Given the description of an element on the screen output the (x, y) to click on. 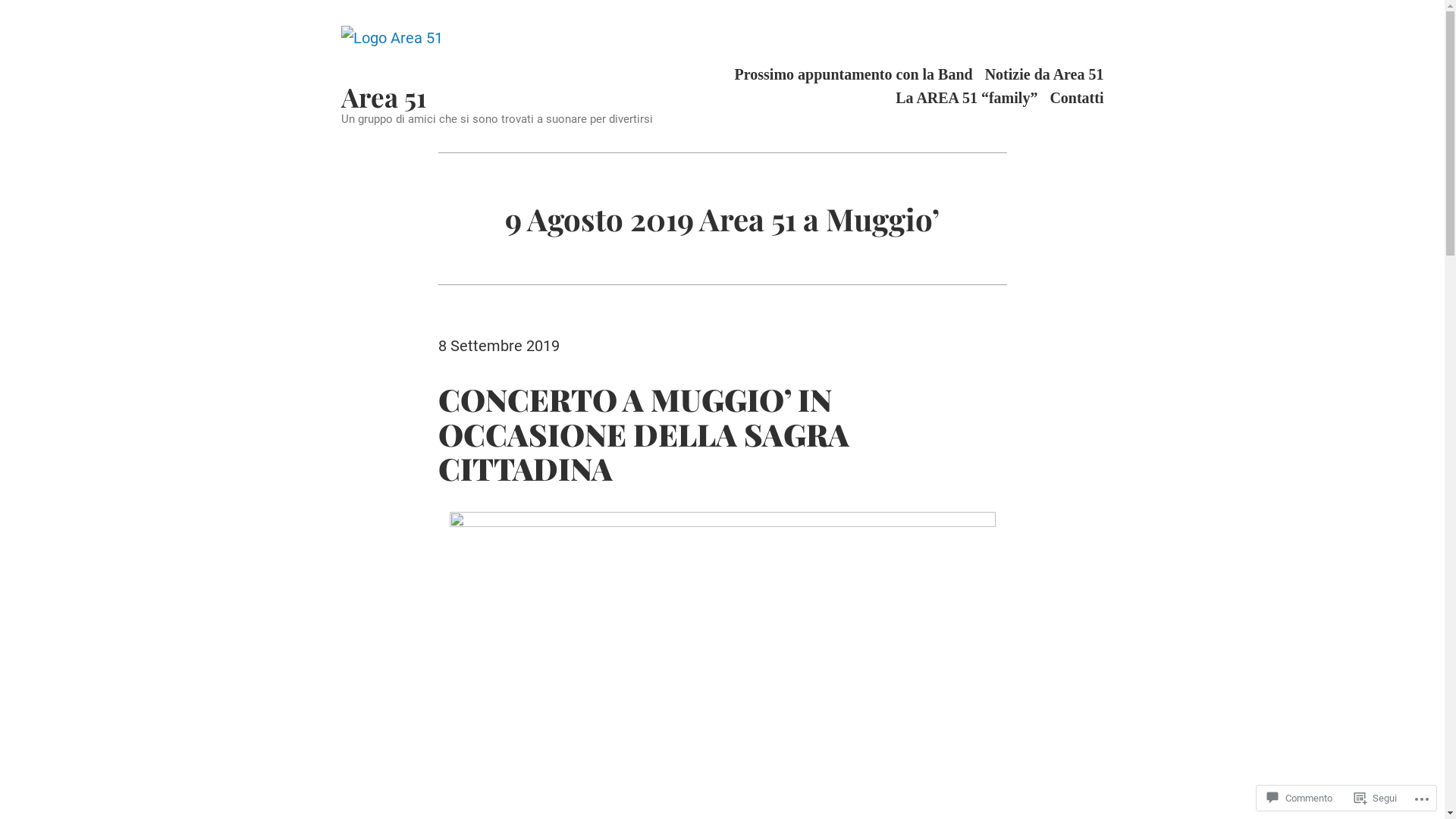
Notizie da Area 51 Element type: text (1044, 73)
Prossimo appuntamento con la Band Element type: text (853, 73)
Contatti Element type: text (1076, 97)
Commento Element type: text (1299, 797)
Segui Element type: text (1375, 797)
Area 51 Element type: text (383, 96)
